Given the description of an element on the screen output the (x, y) to click on. 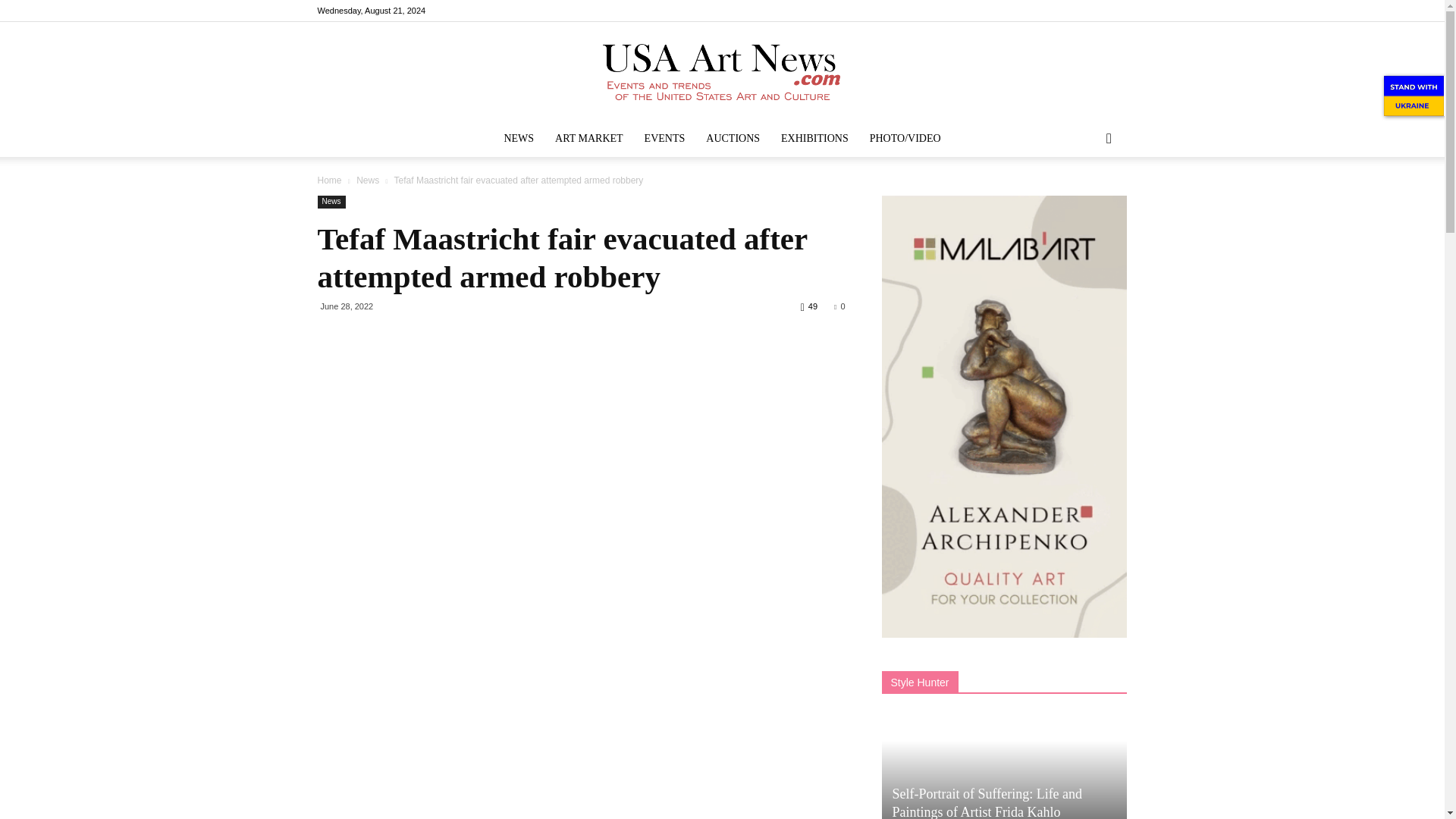
RSS (1090, 10)
Instagram (1065, 10)
ART MARKET (588, 138)
EVENTS (664, 138)
Twitter (1114, 10)
Facebook (1040, 10)
NEWS (518, 138)
